Given the description of an element on the screen output the (x, y) to click on. 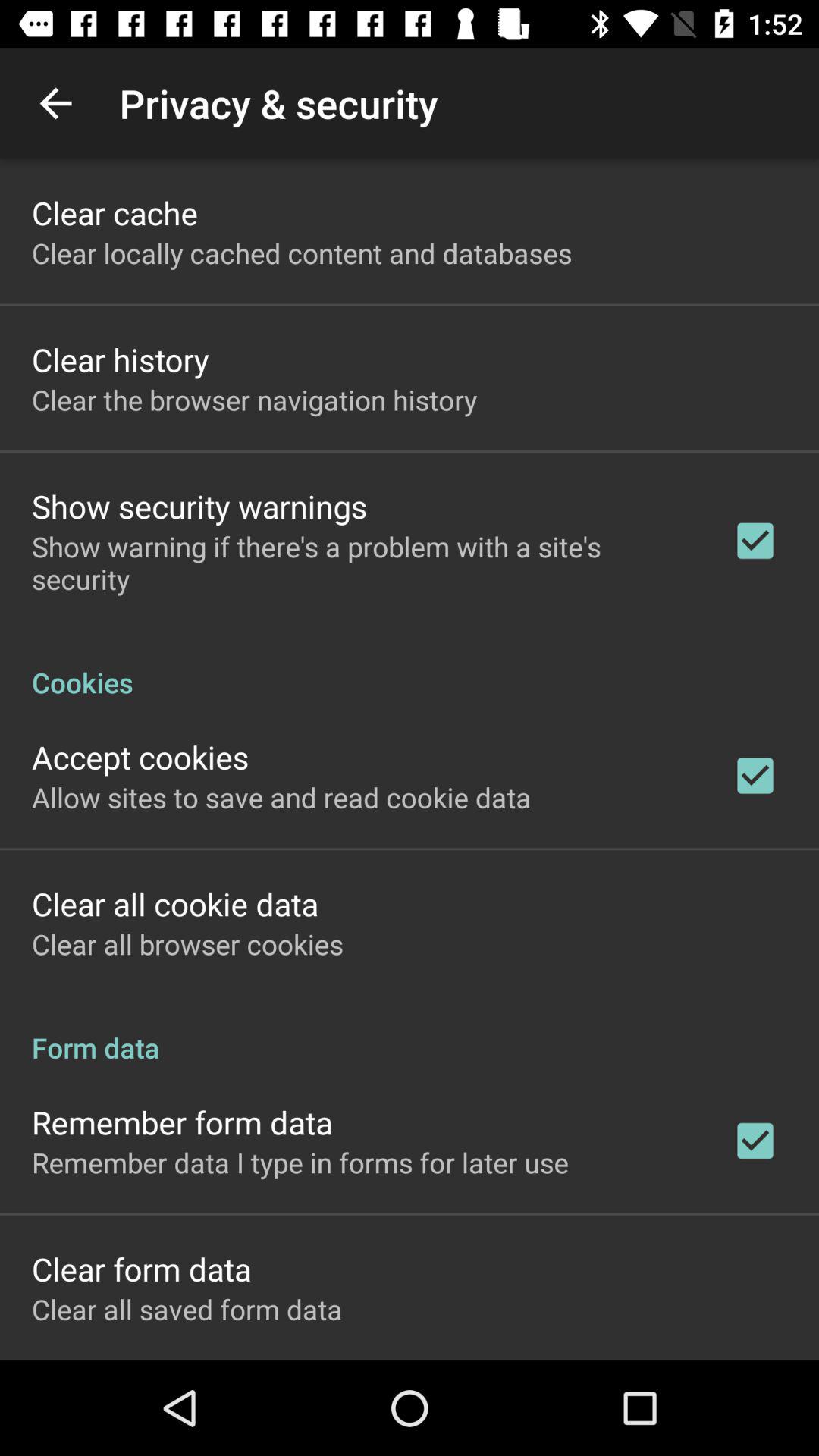
select icon below clear cache (301, 252)
